Given the description of an element on the screen output the (x, y) to click on. 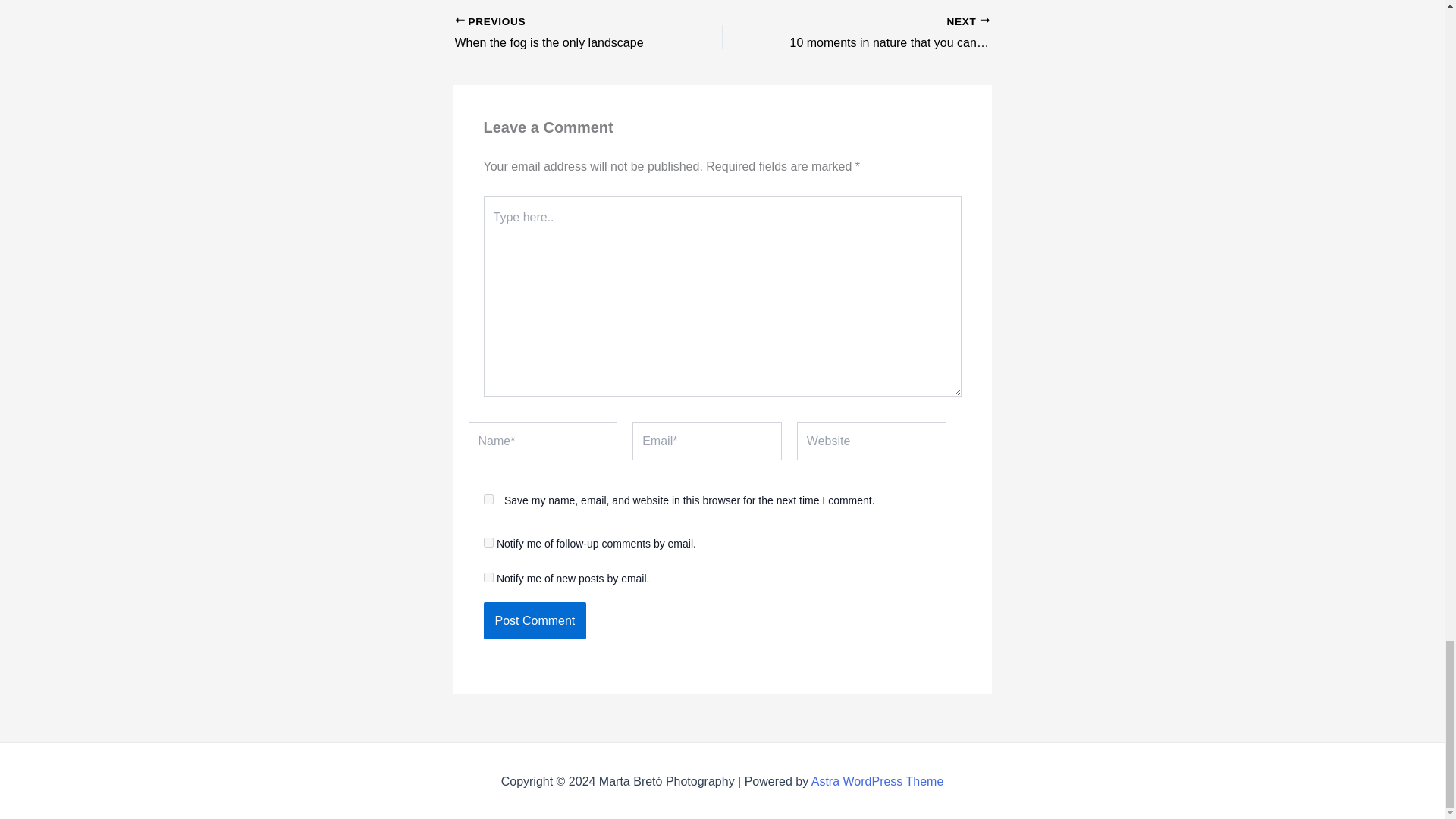
yes (561, 34)
When the fog is the only landscape (488, 499)
Astra WordPress Theme (561, 34)
Post Comment (876, 780)
subscribe (534, 620)
subscribe (488, 577)
Post Comment (882, 34)
10 moments in nature that you can not miss (488, 542)
